Given the description of an element on the screen output the (x, y) to click on. 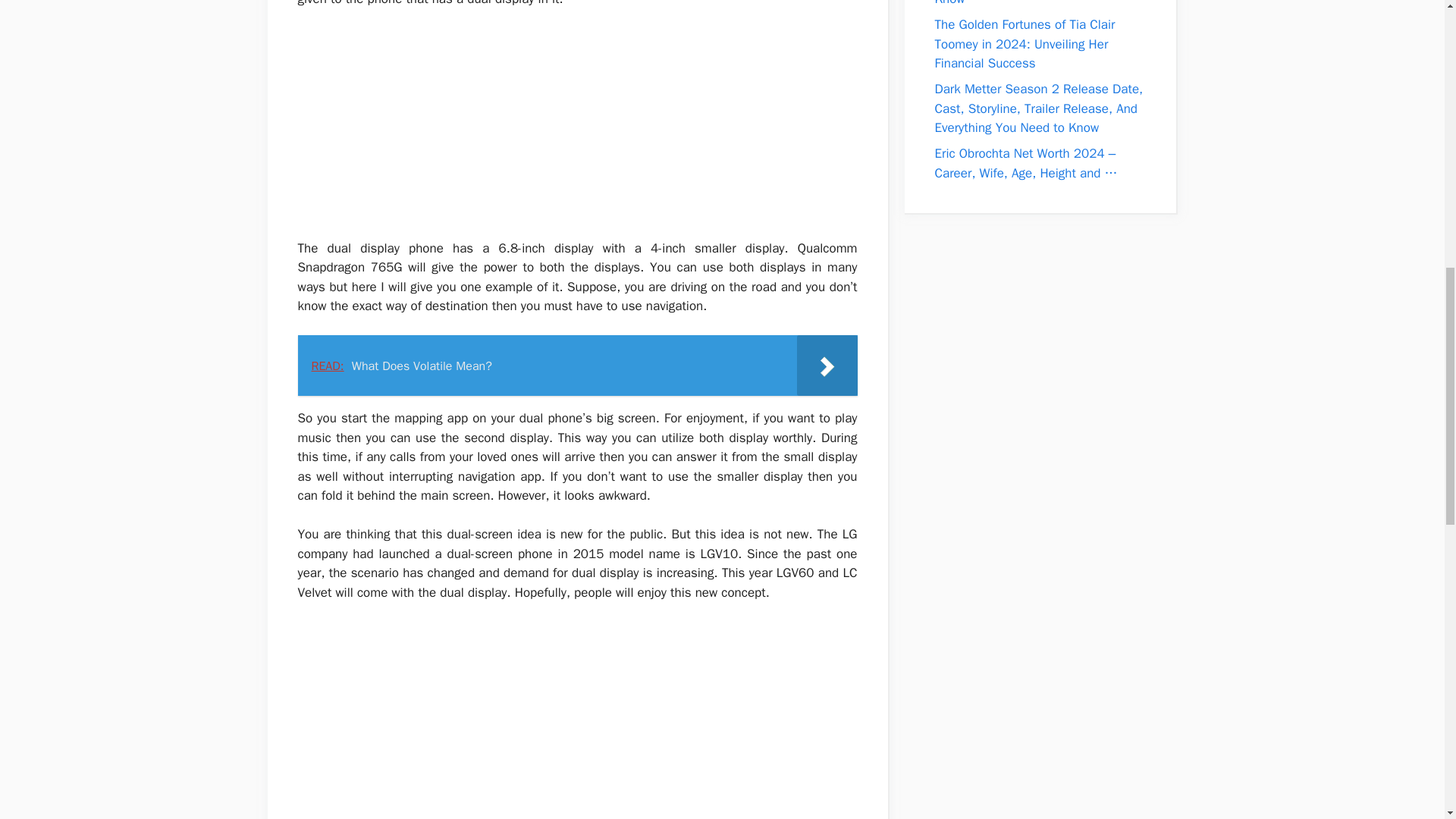
READ:  What Does Volatile Mean? (577, 364)
